Given the description of an element on the screen output the (x, y) to click on. 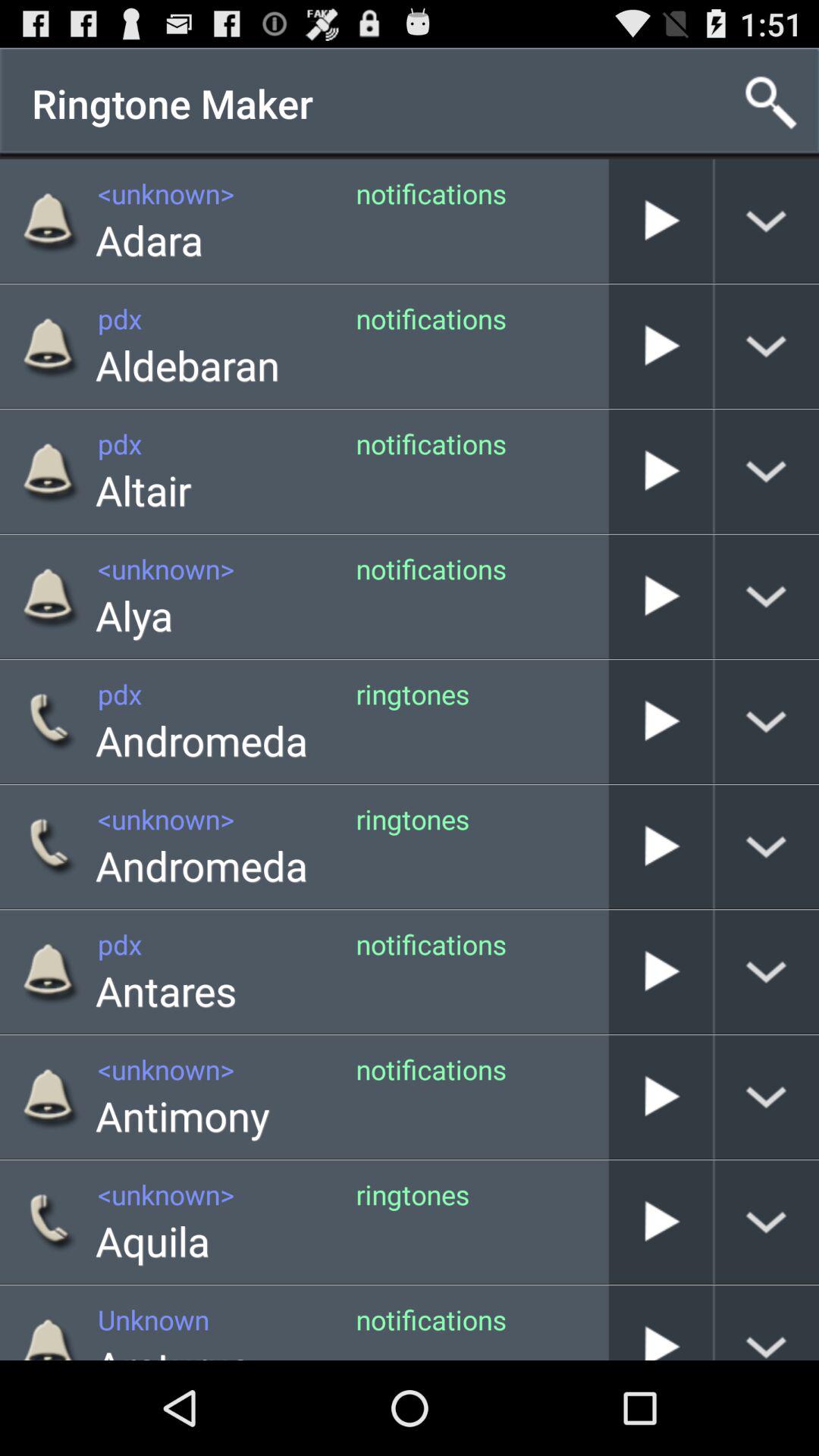
play notifications (660, 221)
